Given the description of an element on the screen output the (x, y) to click on. 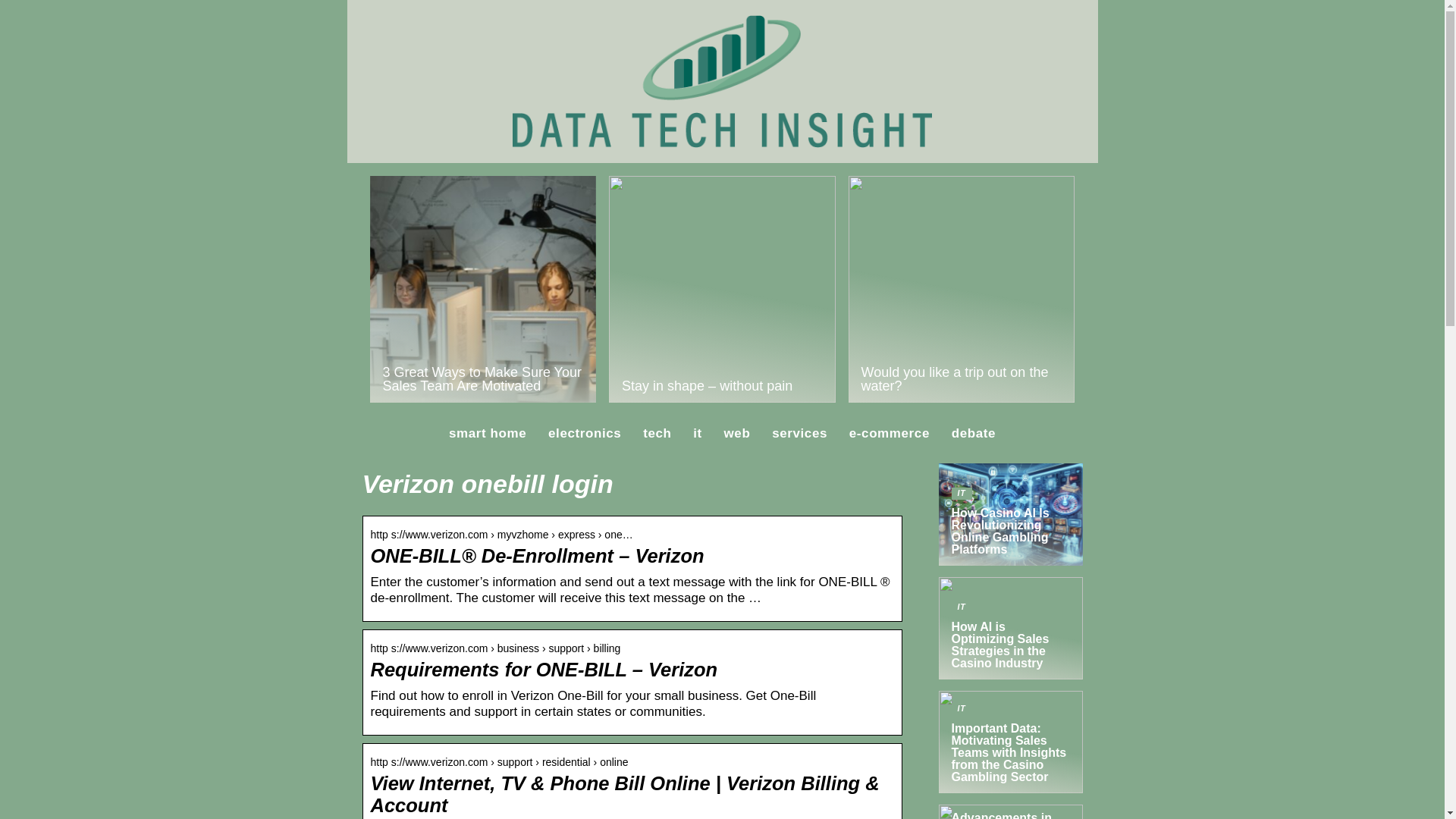
3 Great Ways to Make Sure Your Sales Team Are Motivated (482, 289)
electronics (584, 432)
debate (973, 432)
services (799, 432)
tech (657, 432)
Would you like a trip out on the water? (961, 289)
smart home (486, 432)
